Given the description of an element on the screen output the (x, y) to click on. 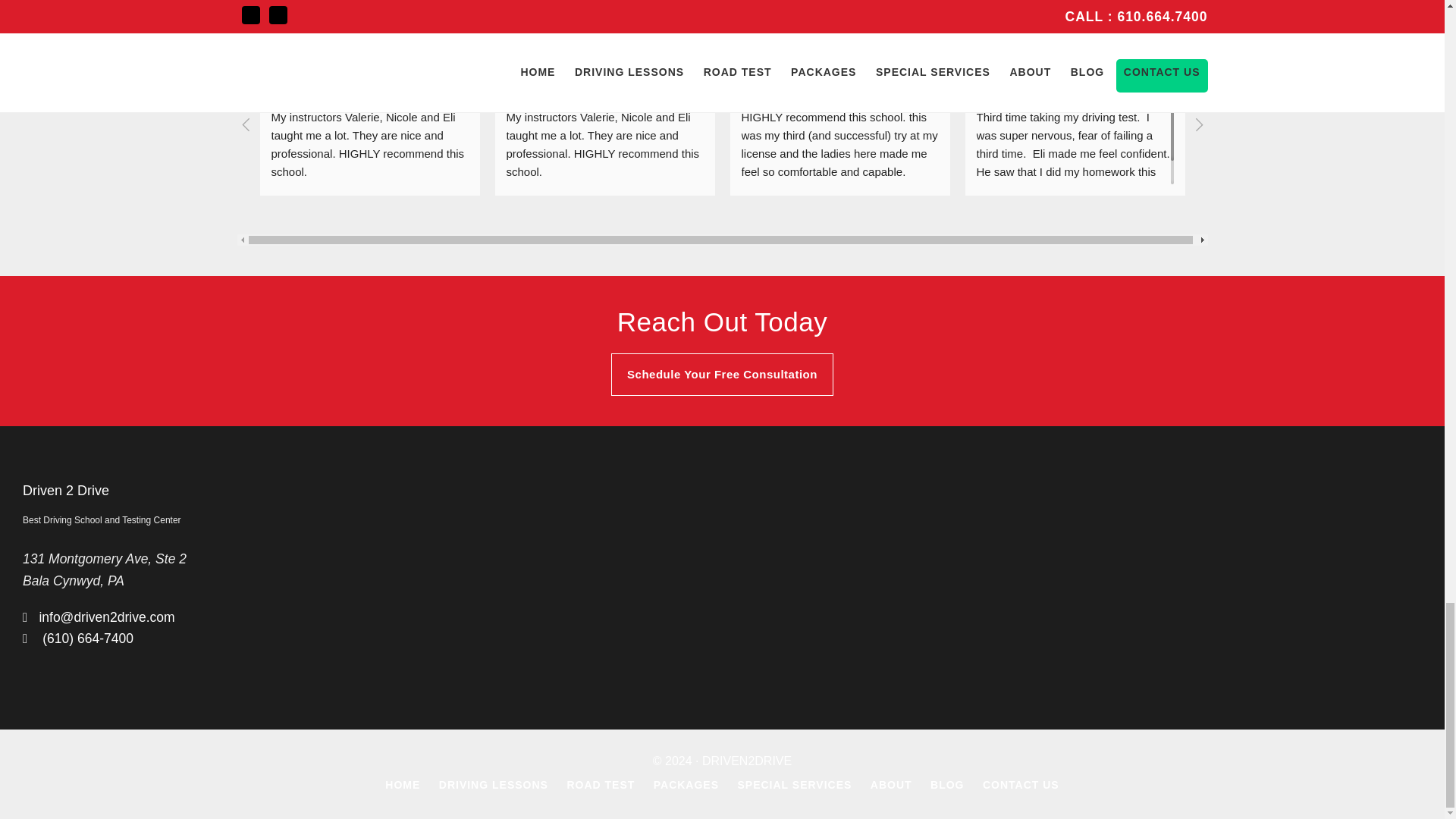
WhatIsTime (1054, 46)
HOME (402, 784)
ROAD TEST (600, 784)
Schedule Your Free Consultation (721, 373)
WhatIsTime (995, 55)
Yan Taylor (289, 55)
Ritzy Riches (1290, 46)
Ivy Salfiti (759, 55)
Ivy Salfiti (812, 46)
DRIVEN2DRIVE (746, 760)
Ritzy Riches (1230, 55)
DRIVING LESSONS (493, 784)
Yan Taylor (345, 46)
A Google User (525, 55)
